Given the description of an element on the screen output the (x, y) to click on. 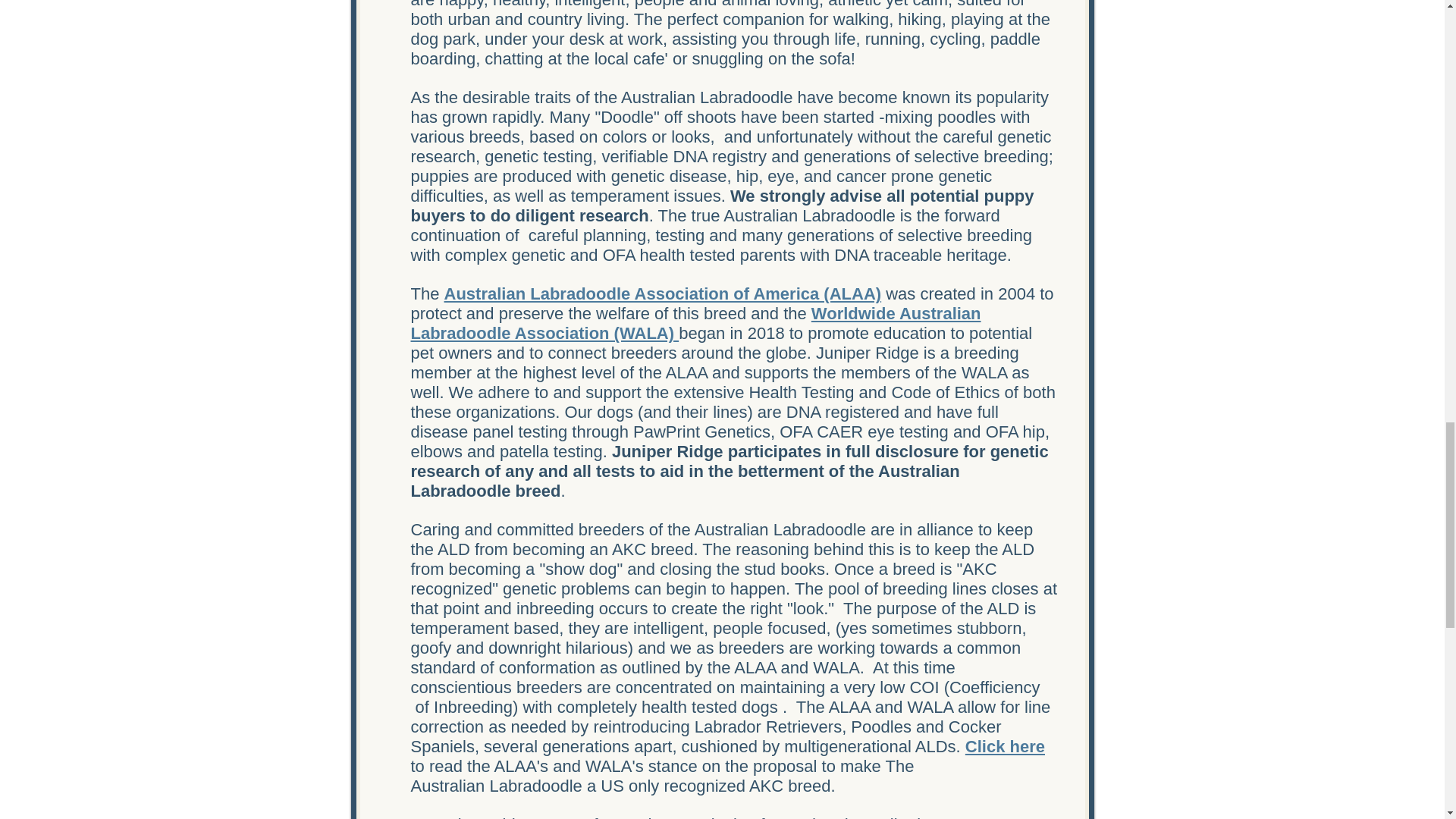
Click here (1005, 746)
